Given the description of an element on the screen output the (x, y) to click on. 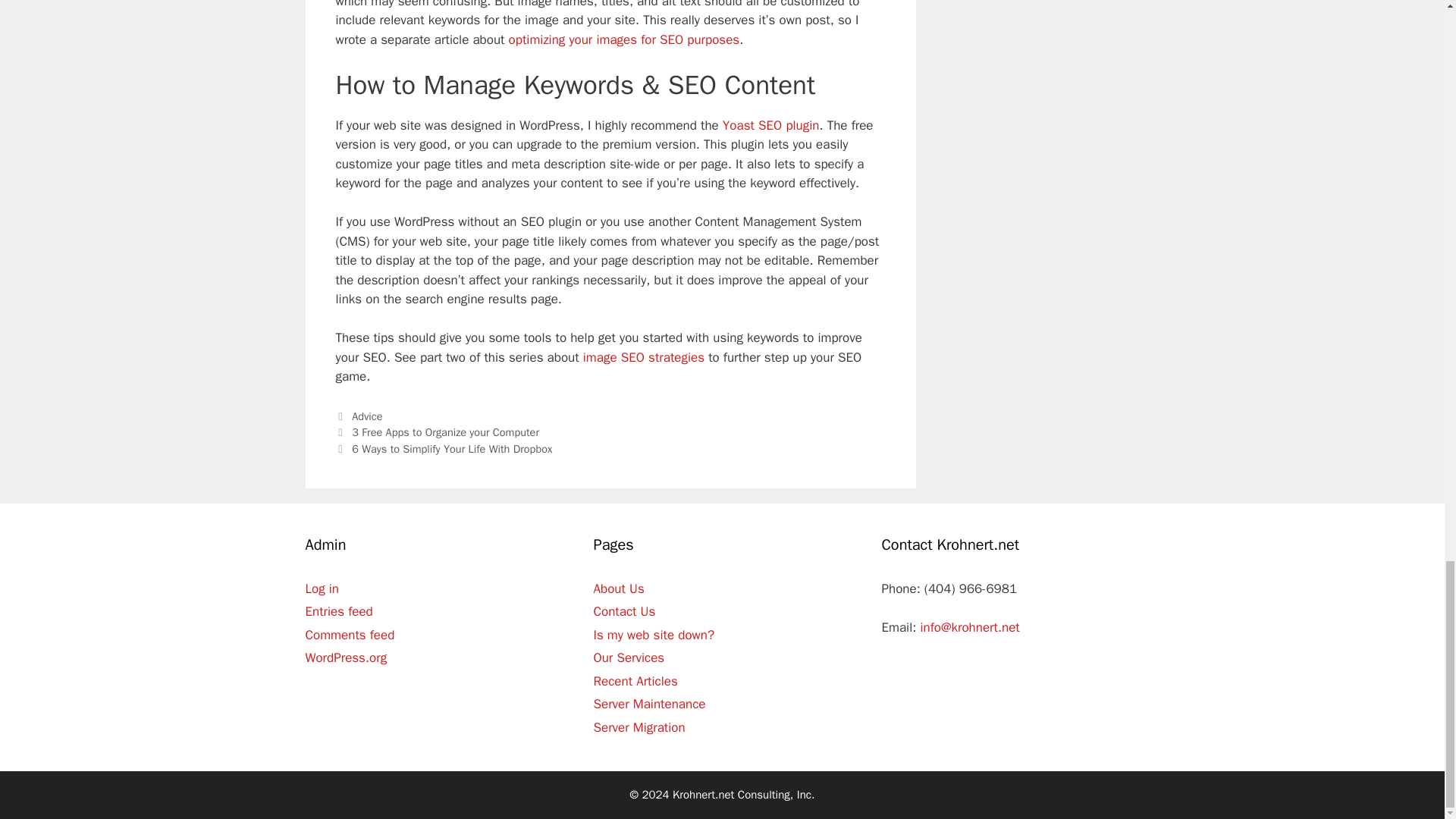
image SEO strategies (643, 357)
Entries feed (338, 611)
Yoast SEO plugin (770, 125)
3 Free Apps to Organize your Computer (445, 431)
Our Services (627, 657)
Log in (321, 588)
Comments feed (349, 634)
Contact Us (623, 611)
Server Migration (638, 727)
Advice (366, 416)
About Us (617, 588)
WordPress.org (345, 657)
Server Maintenance (648, 703)
Is my web site down? (653, 634)
optimizing your images for SEO purposes (623, 39)
